Given the description of an element on the screen output the (x, y) to click on. 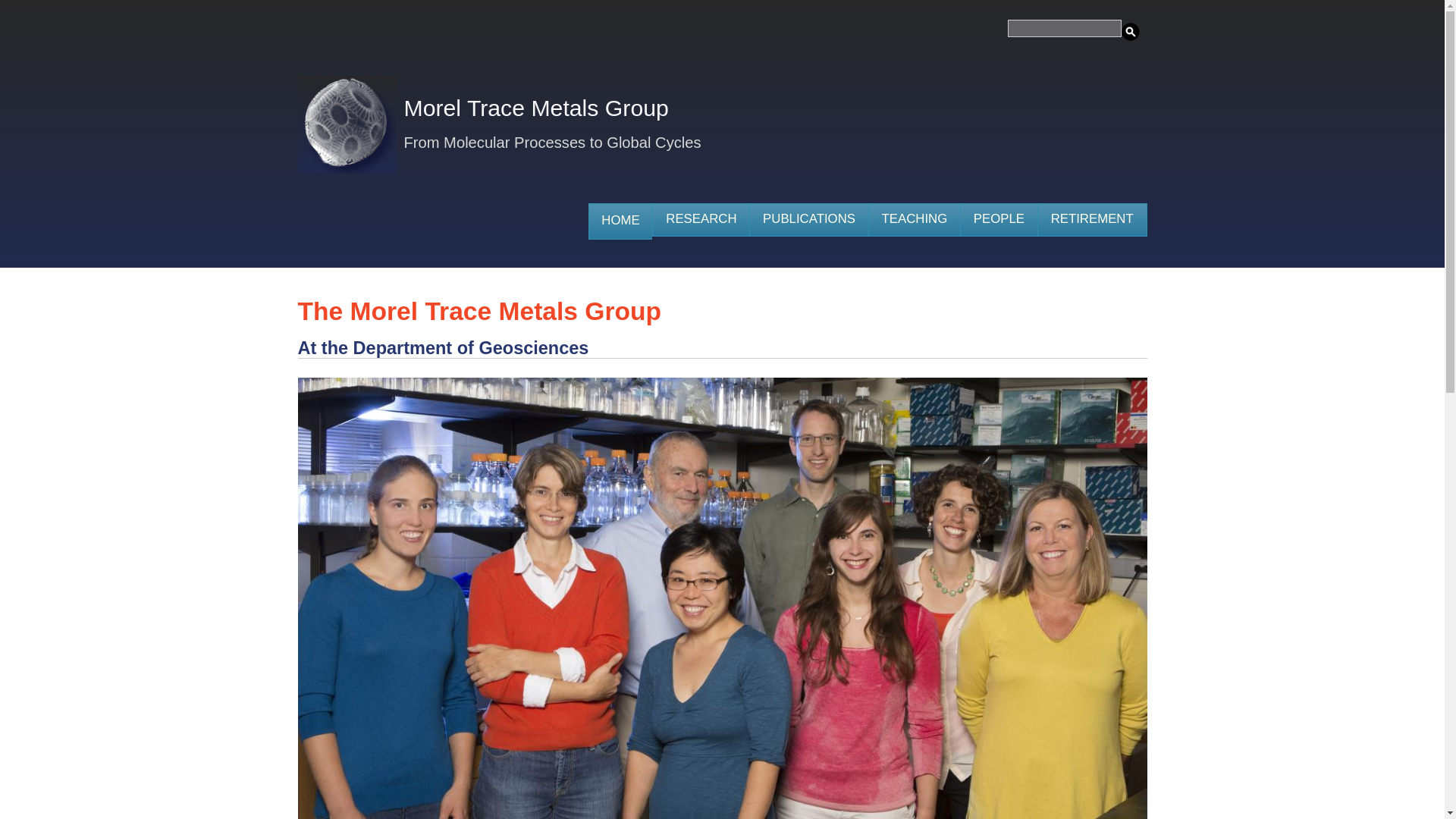
This is our people page, it is a panel. (997, 219)
Home page (535, 114)
Morel Trace Metals Group (535, 114)
PUBLICATIONS (808, 219)
Enter the terms you wish to search for. (1064, 27)
Search (1129, 31)
Search (1129, 31)
RESEARCH (700, 219)
HOME (620, 221)
